Given the description of an element on the screen output the (x, y) to click on. 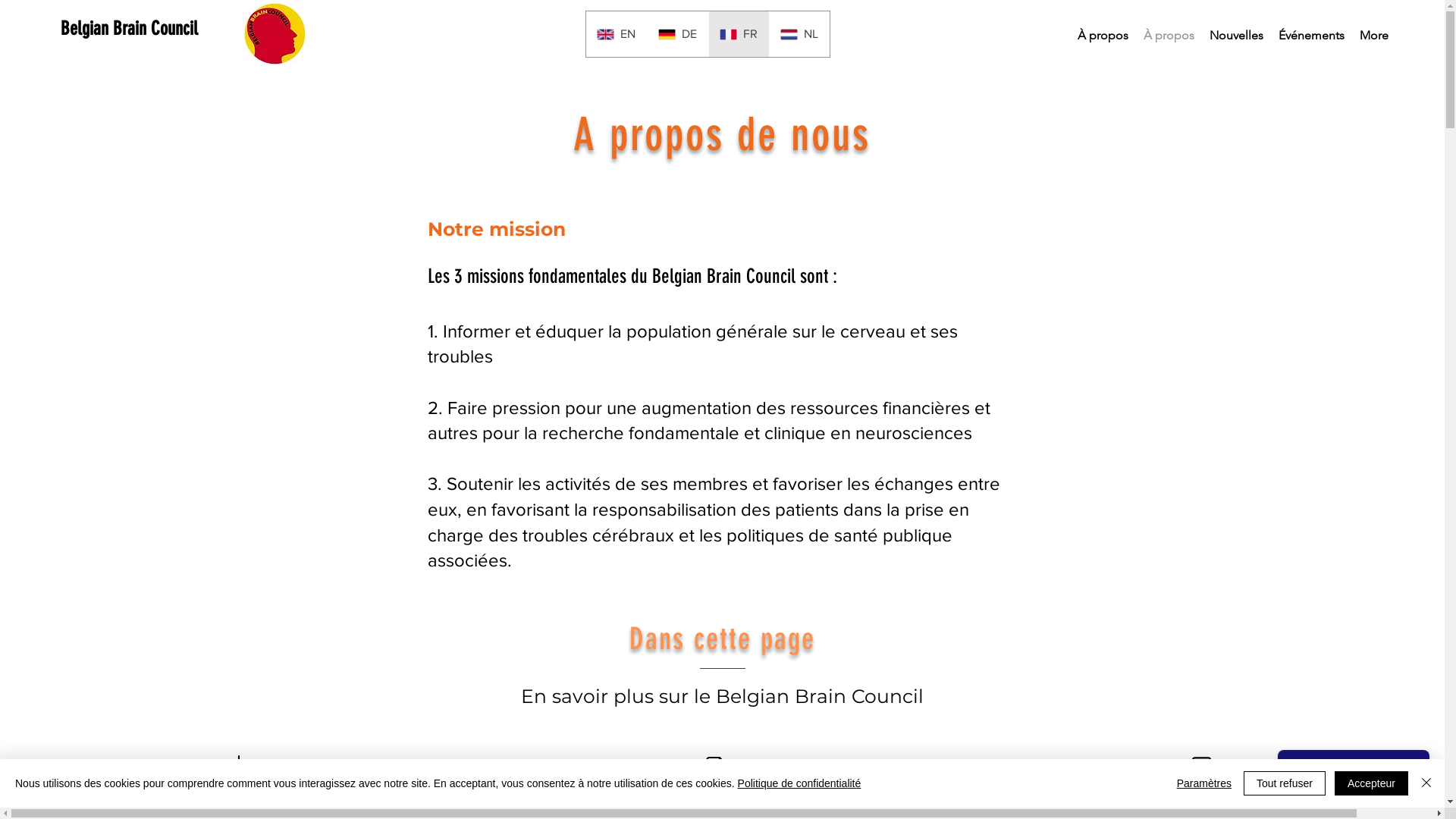
DE Element type: text (676, 33)
EN Element type: text (615, 33)
Accepteur Element type: text (1371, 783)
Wix Chat Element type: hover (1357, 774)
Tout refuser Element type: text (1284, 783)
FR Element type: text (738, 33)
Belgian Brain Council Element type: text (128, 27)
NL Element type: text (798, 33)
Nouvelles Element type: text (1235, 35)
